Given the description of an element on the screen output the (x, y) to click on. 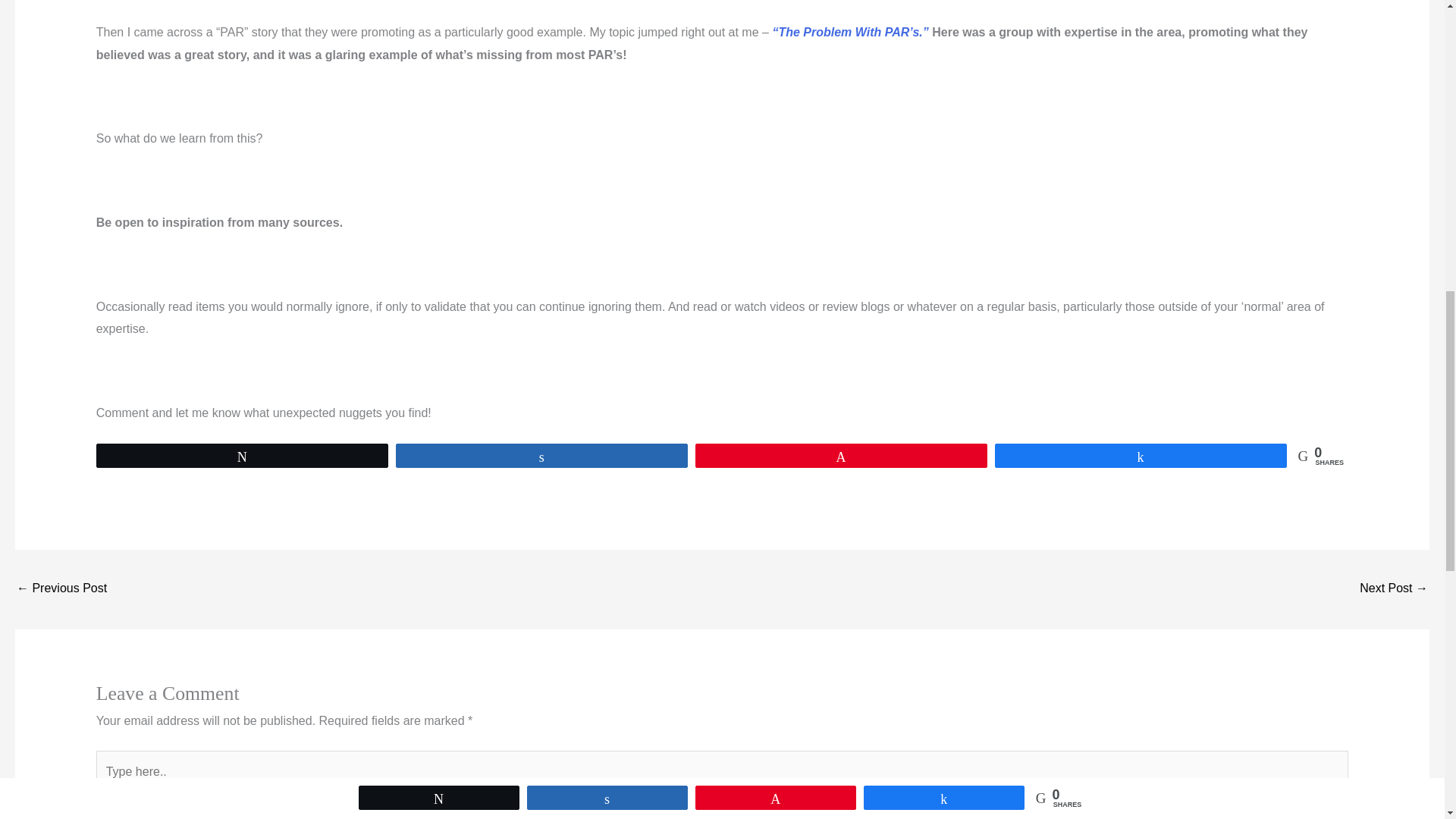
Building Stronger LinkedIn Connections (61, 589)
Working With Recruiters (1393, 589)
